Given the description of an element on the screen output the (x, y) to click on. 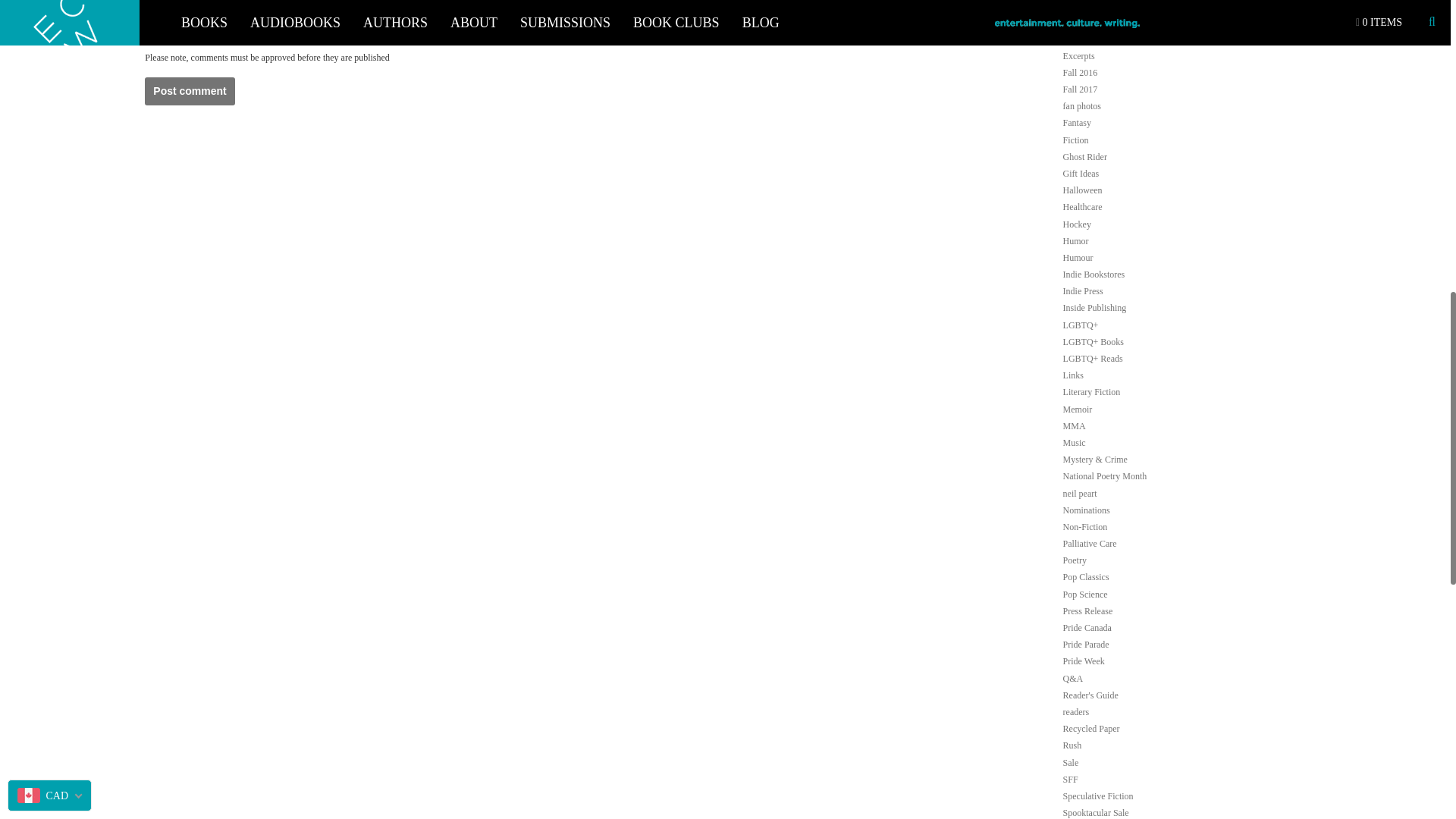
Post comment (189, 91)
Post comment (189, 91)
